Given the description of an element on the screen output the (x, y) to click on. 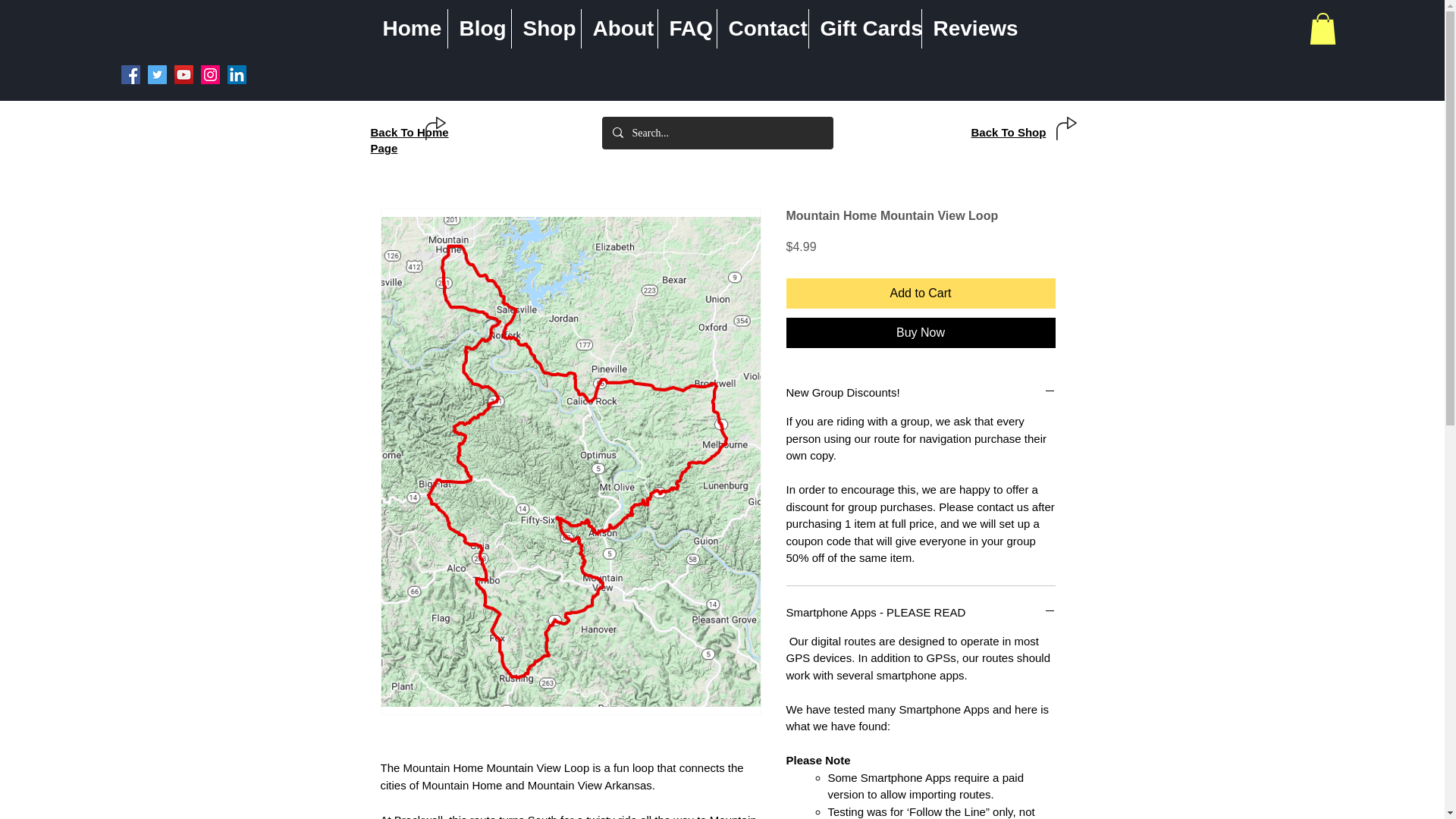
Blog (478, 28)
Back To Shop (1008, 132)
Home (408, 28)
Reviews (970, 28)
Smartphone Apps - PLEASE READ (920, 611)
New Group Discounts! (920, 392)
Buy Now (920, 332)
Gift Cards (864, 28)
Back To Home Page (408, 140)
FAQ (687, 28)
